Given the description of an element on the screen output the (x, y) to click on. 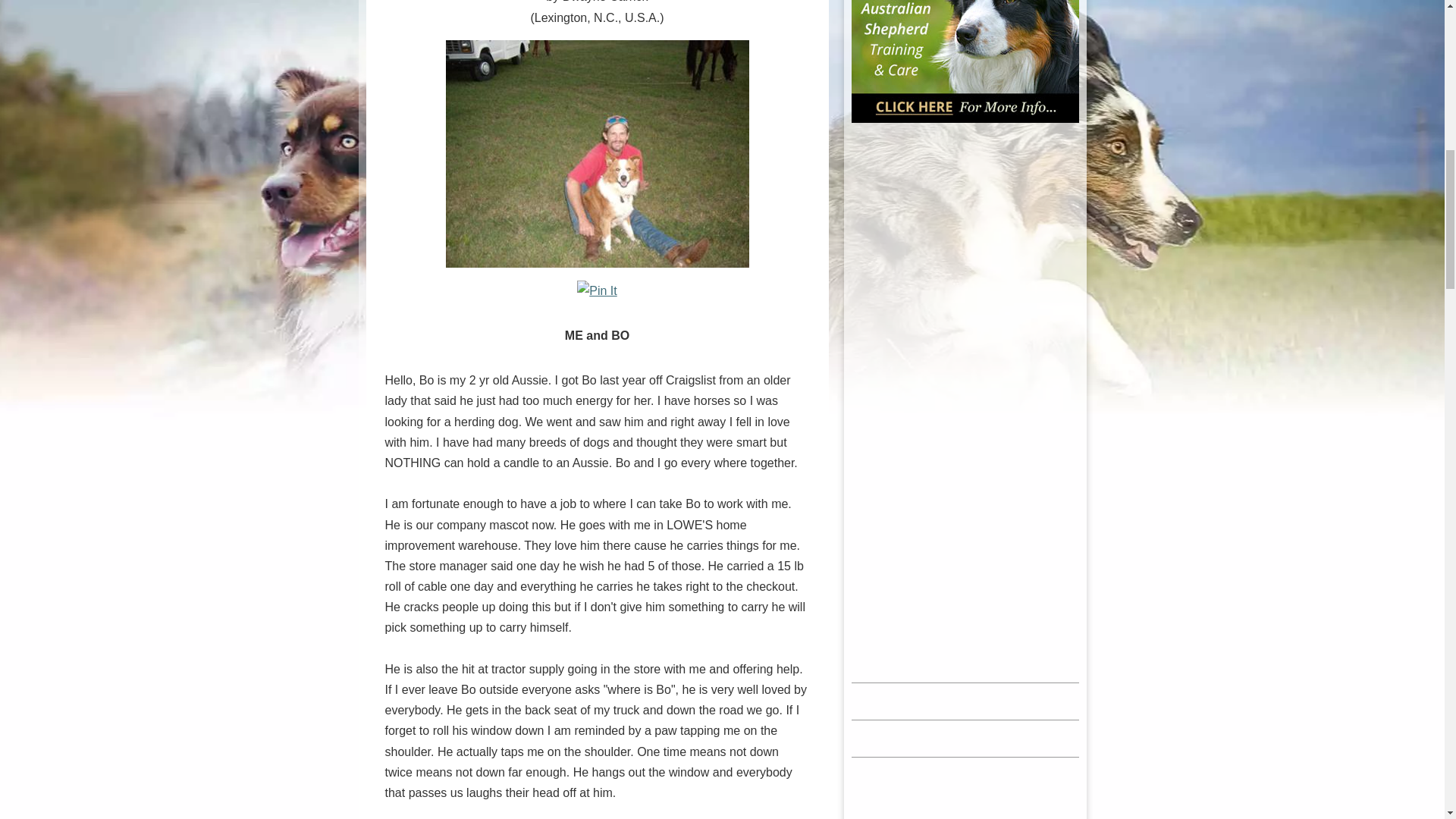
Australian Shepherd Puppies Available (964, 625)
Pin It (595, 290)
Are You An Australian Shepherd Breeder? Get Listed Here (964, 769)
Australian Shepherd Rescue (964, 788)
Australian Shepherd Breeders Directory (964, 751)
ME and BO (597, 153)
